Given the description of an element on the screen output the (x, y) to click on. 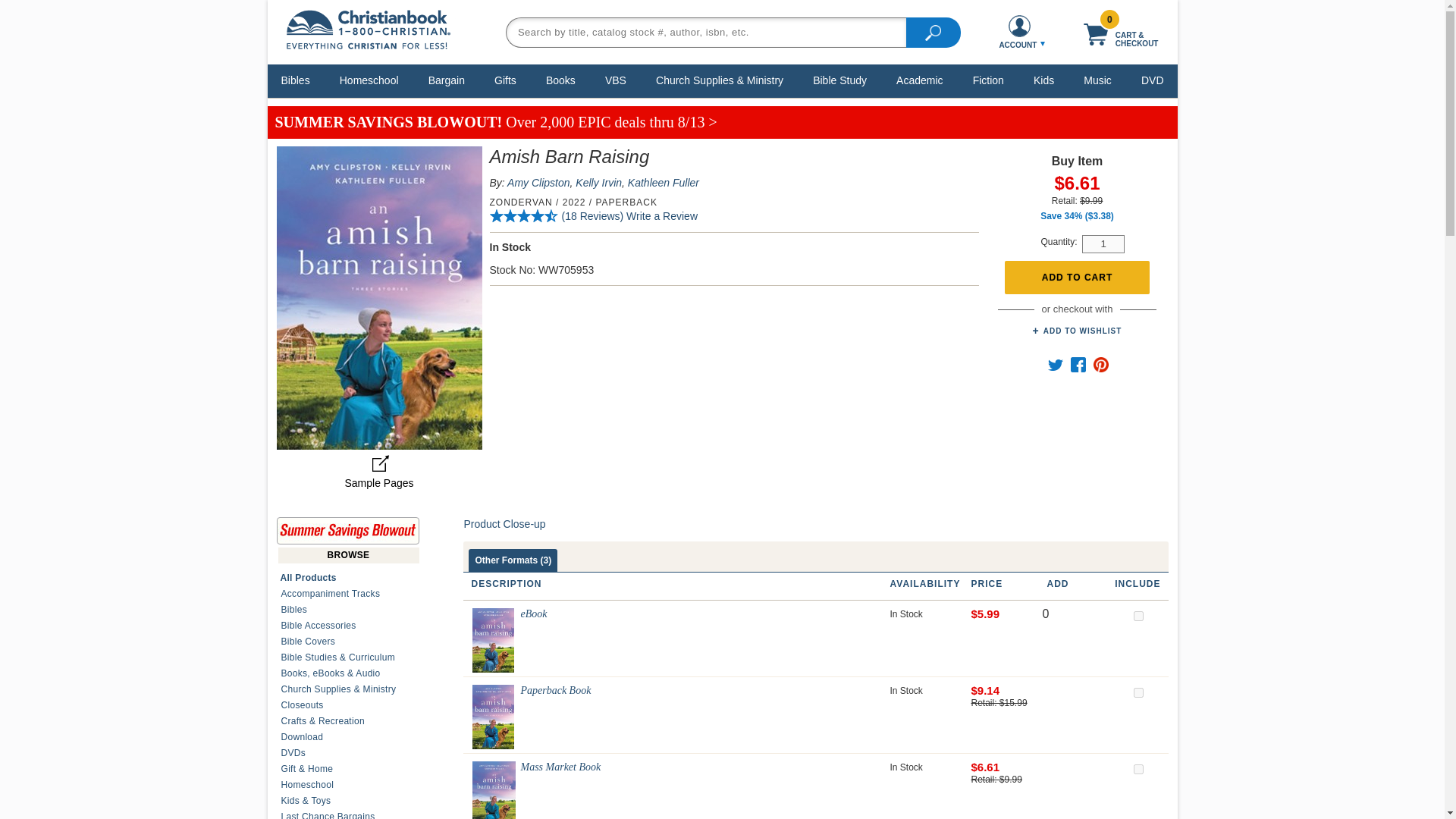
362403 (1137, 692)
Bargain (446, 79)
Music (1097, 79)
Amy Clipston (537, 182)
Fiction (988, 79)
Bibles (295, 79)
1 (1102, 244)
Homeschool (369, 79)
ACCOUNT (1019, 32)
Kelly Irvin (598, 182)
107050EB (1137, 615)
Books (560, 79)
Bible Study (840, 79)
Kids (1043, 79)
705953 (1137, 768)
